Given the description of an element on the screen output the (x, y) to click on. 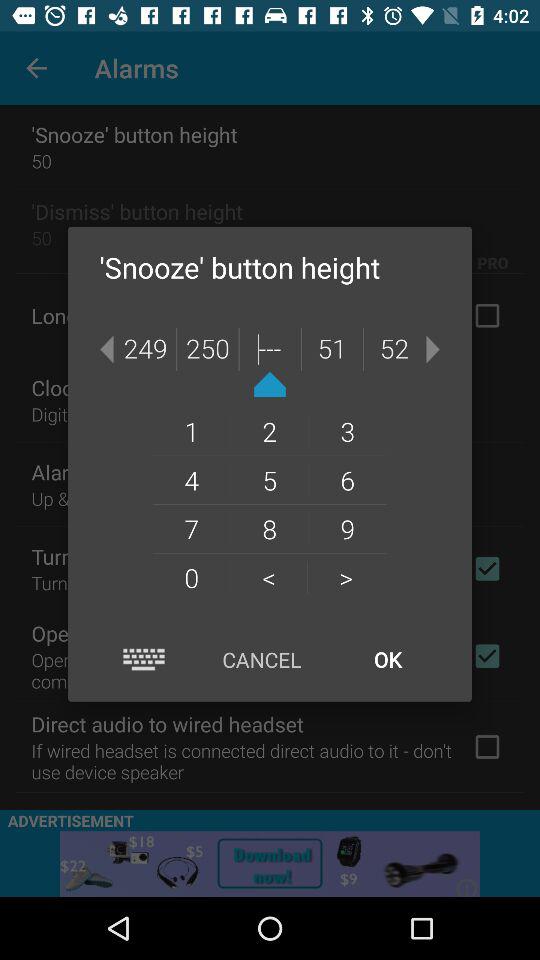
open keyboard (143, 659)
